Given the description of an element on the screen output the (x, y) to click on. 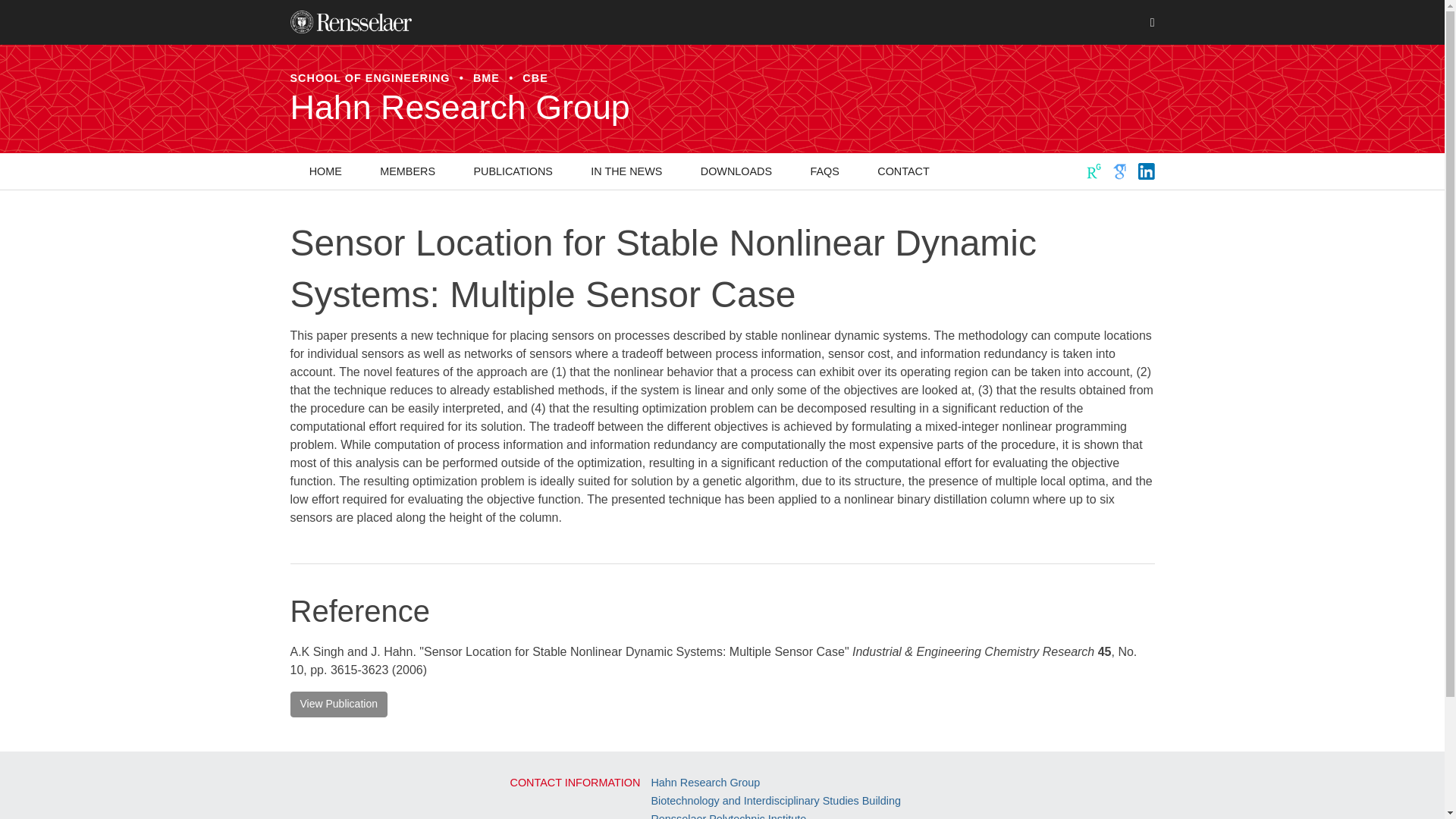
FAQS (824, 171)
HOME (325, 171)
Hahn Research Group ResearchGate (1094, 170)
Hahn Research Group (705, 782)
BME (486, 78)
Rensselaer Polytechnic Institute (728, 816)
PUBLICATIONS (513, 171)
IN THE NEWS (626, 171)
Hahn Research Group Google Scholar (1120, 170)
Hahn Research Group LinkedIn (1145, 170)
MEMBERS (407, 171)
DOWNLOADS (736, 171)
CBE (534, 78)
Hahn Research Group (721, 106)
